Given the description of an element on the screen output the (x, y) to click on. 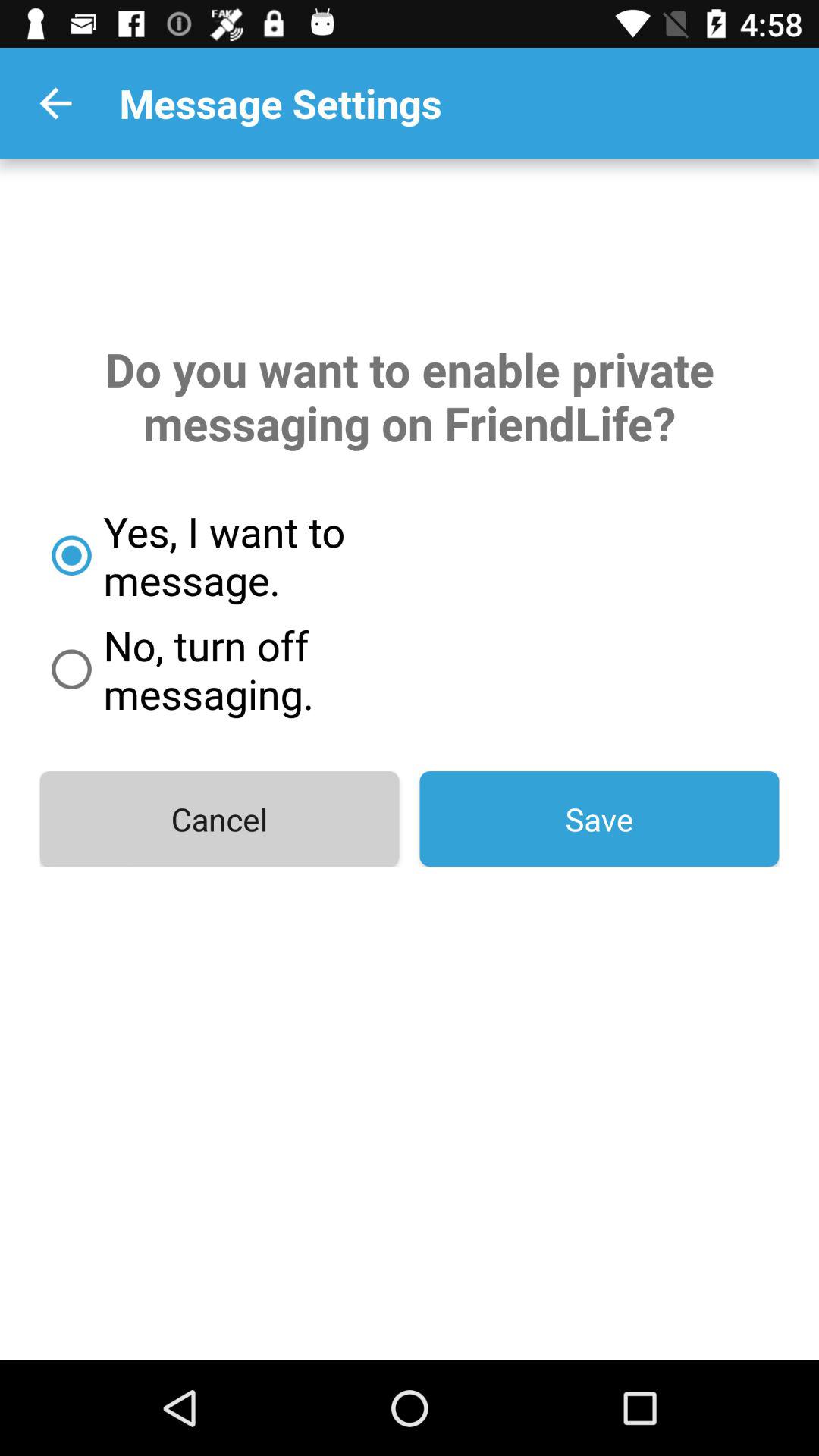
turn off the icon on the right (599, 818)
